Given the description of an element on the screen output the (x, y) to click on. 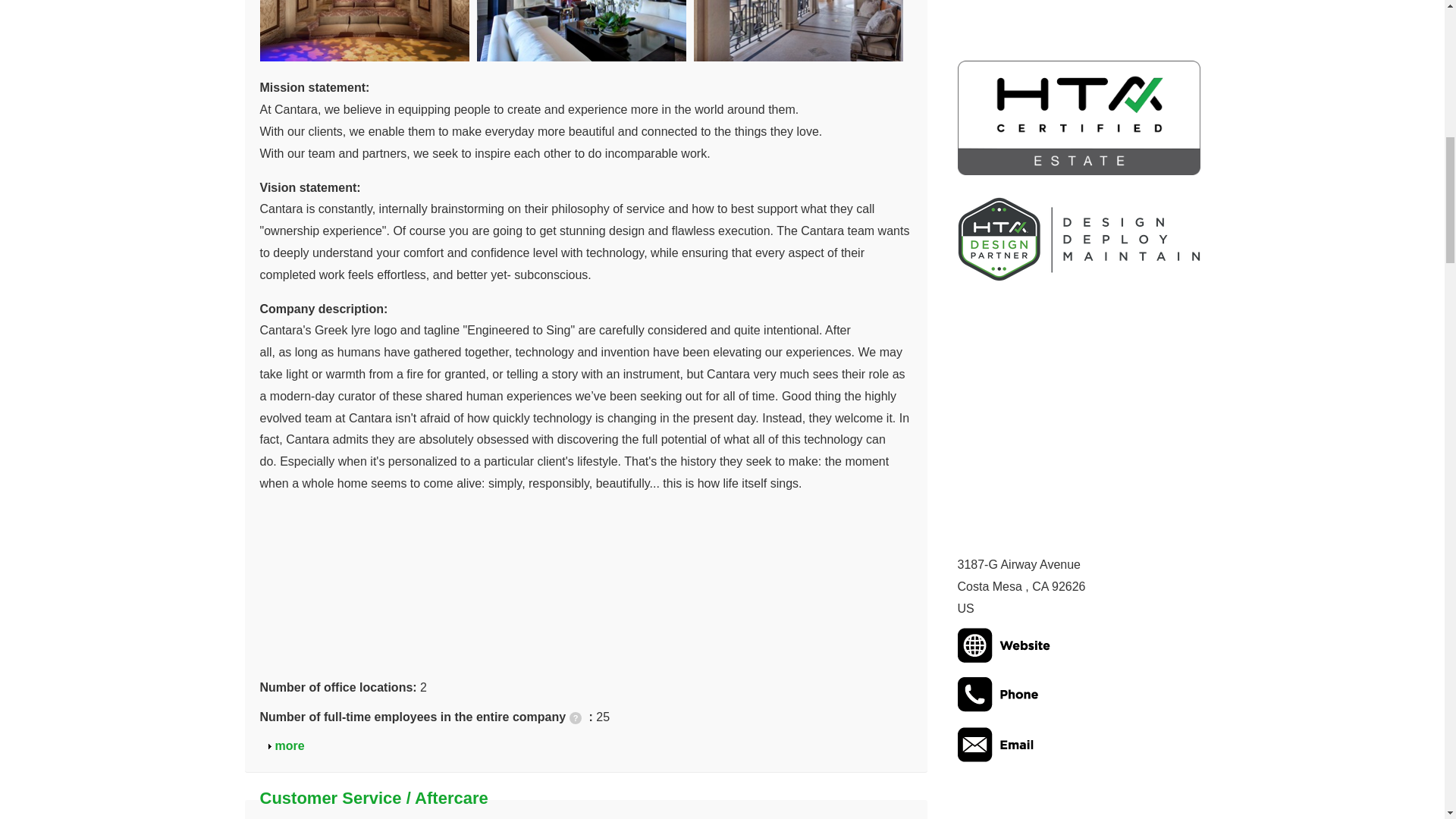
AV installer Cantara  services Orange County (368, 30)
Home automation installation by Cantara  Laguna Beach (289, 745)
